Given the description of an element on the screen output the (x, y) to click on. 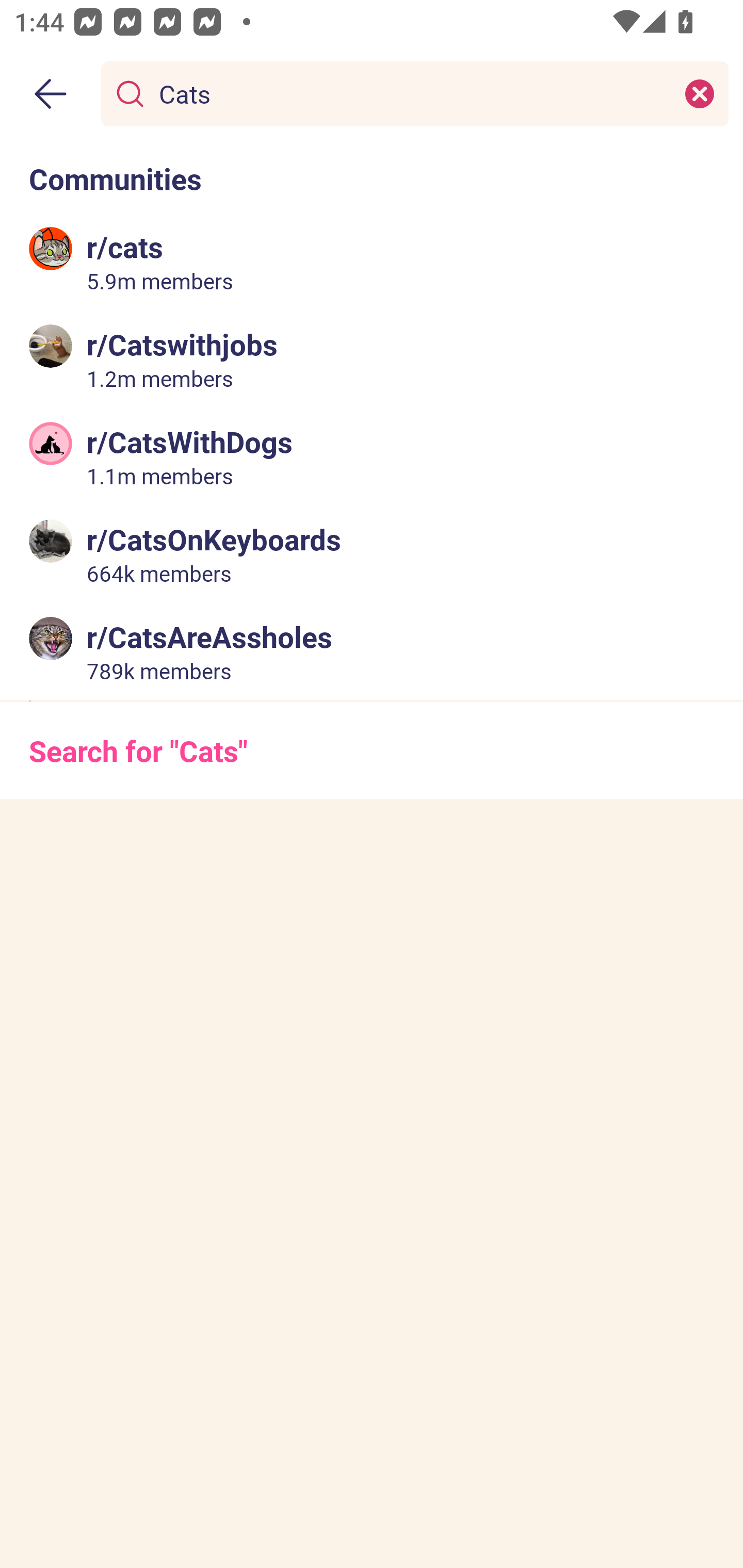
Back (50, 93)
Cats (410, 93)
Clear search (699, 93)
r/cats 5.9m members 5.9 million members (371, 261)
r/Catswithjobs 1.2m members 1.2 million members (371, 358)
r/CatsWithDogs 1.1m members 1.1 million members (371, 455)
Search for "Cats" (371, 750)
